Given the description of an element on the screen output the (x, y) to click on. 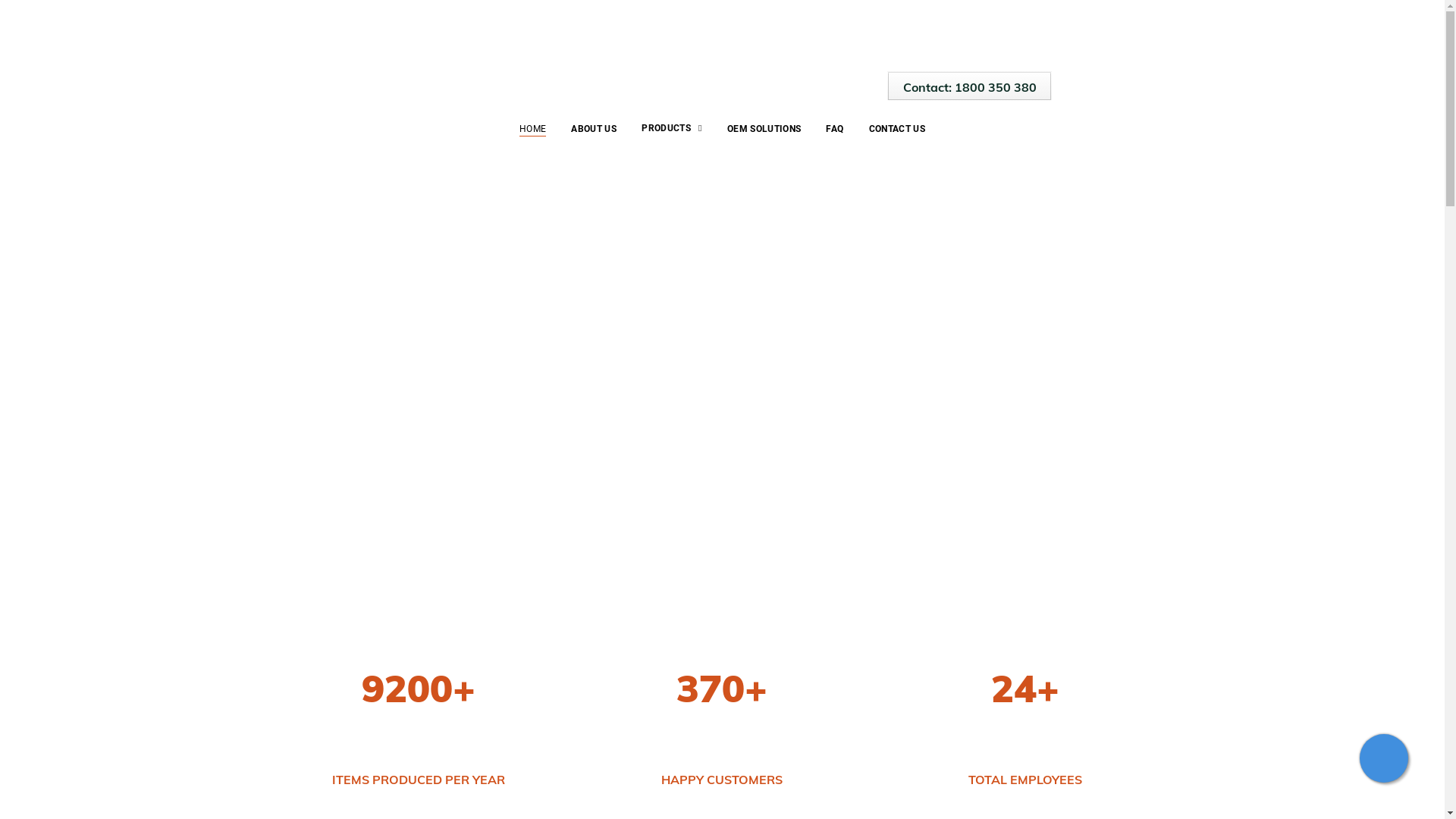
ABOUT US Element type: text (593, 128)
HOME Element type: text (532, 128)
CONTACT US Element type: text (897, 128)
Contact: 1800 350 380 Element type: text (969, 85)
PRODUCTS Element type: text (671, 128)
OEM SOLUTIONS Element type: text (763, 128)
FAQ Element type: text (834, 128)
